Given the description of an element on the screen output the (x, y) to click on. 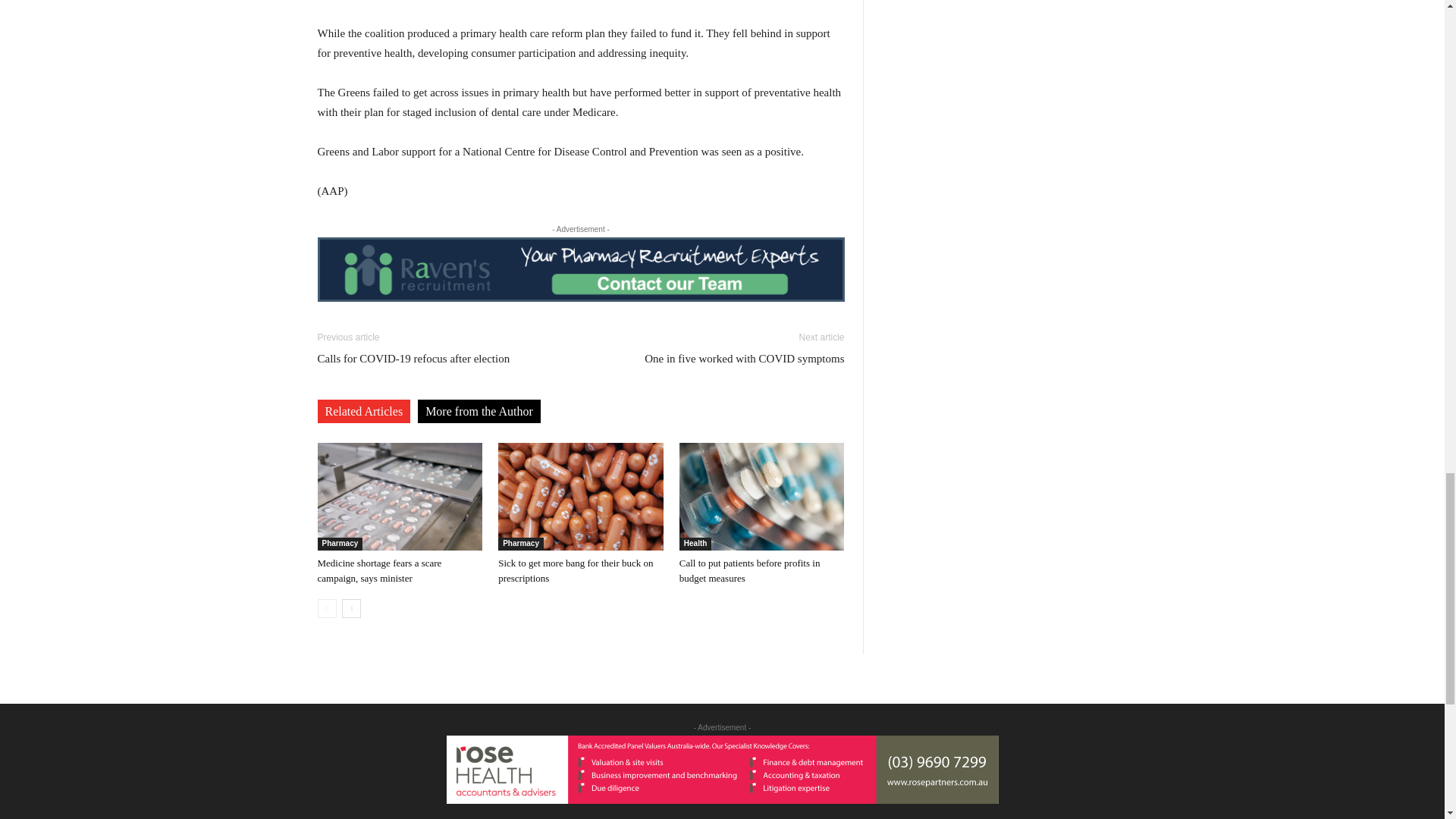
Medicine shortage fears a scare campaign, says minister (399, 496)
